Given the description of an element on the screen output the (x, y) to click on. 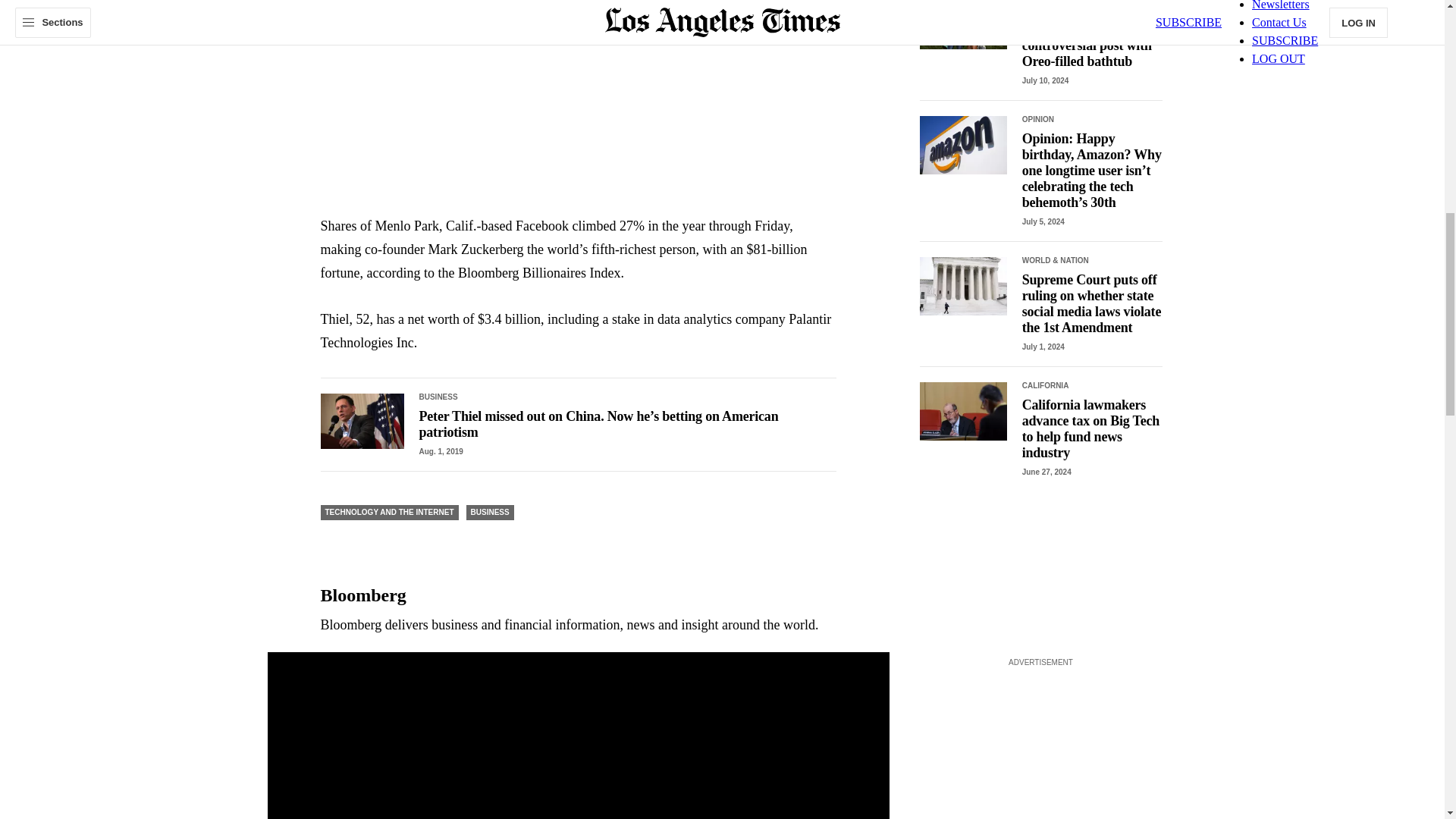
3rd party ad content (1040, 744)
